Given the description of an element on the screen output the (x, y) to click on. 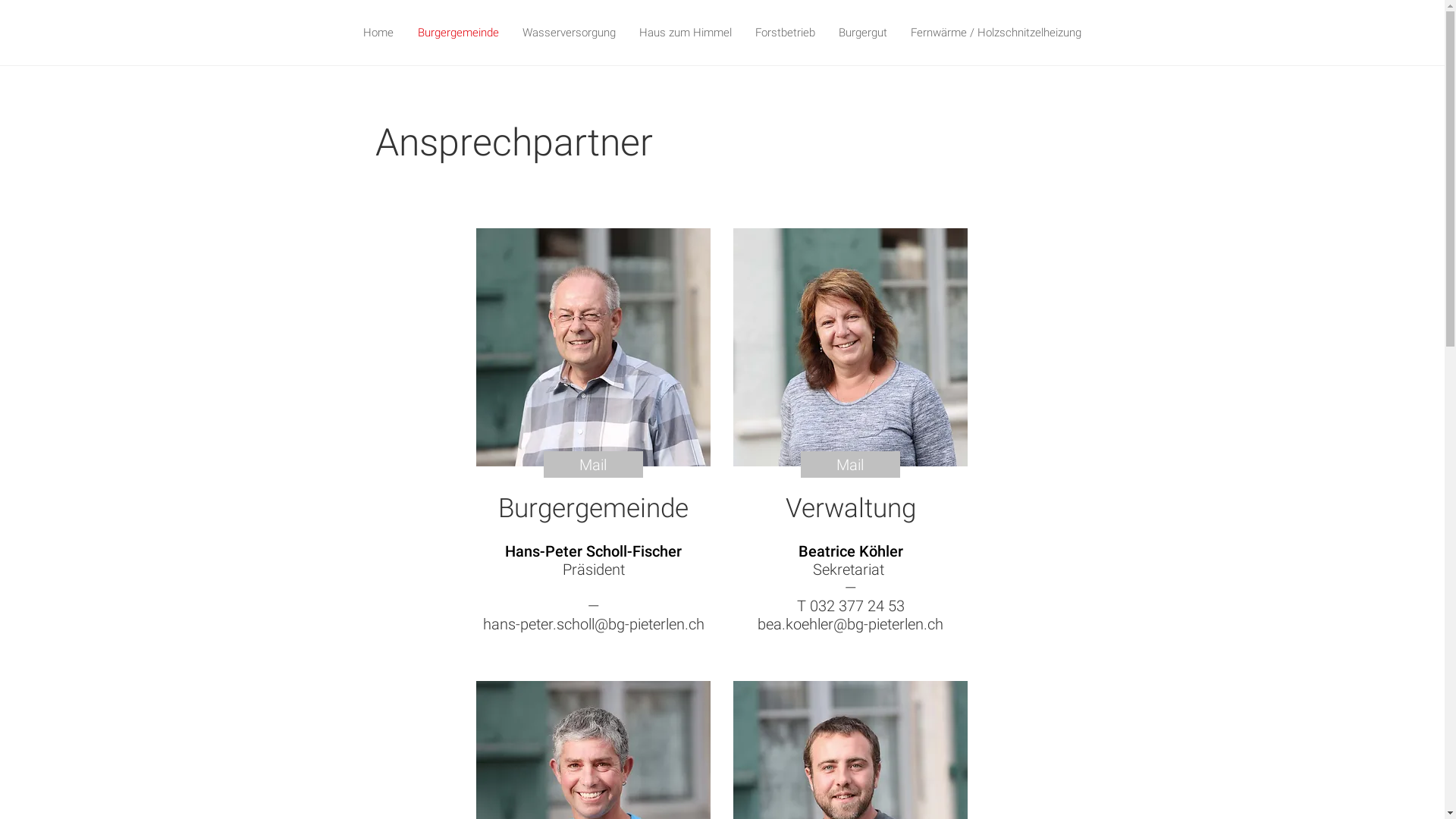
Wasserversorgung Element type: text (569, 32)
Burgergemeinde Element type: text (457, 32)
Mail Element type: text (850, 464)
Home Element type: text (377, 32)
Forstbetrieb Element type: text (784, 32)
Haus zum Himmel Element type: text (685, 32)
bea.koehler@bg-pieterlen.ch Element type: text (850, 624)
Burgergut Element type: text (862, 32)
hans-peter.scholl@bg-pieterlen.ch Element type: text (592, 624)
Mail Element type: text (592, 464)
